Given the description of an element on the screen output the (x, y) to click on. 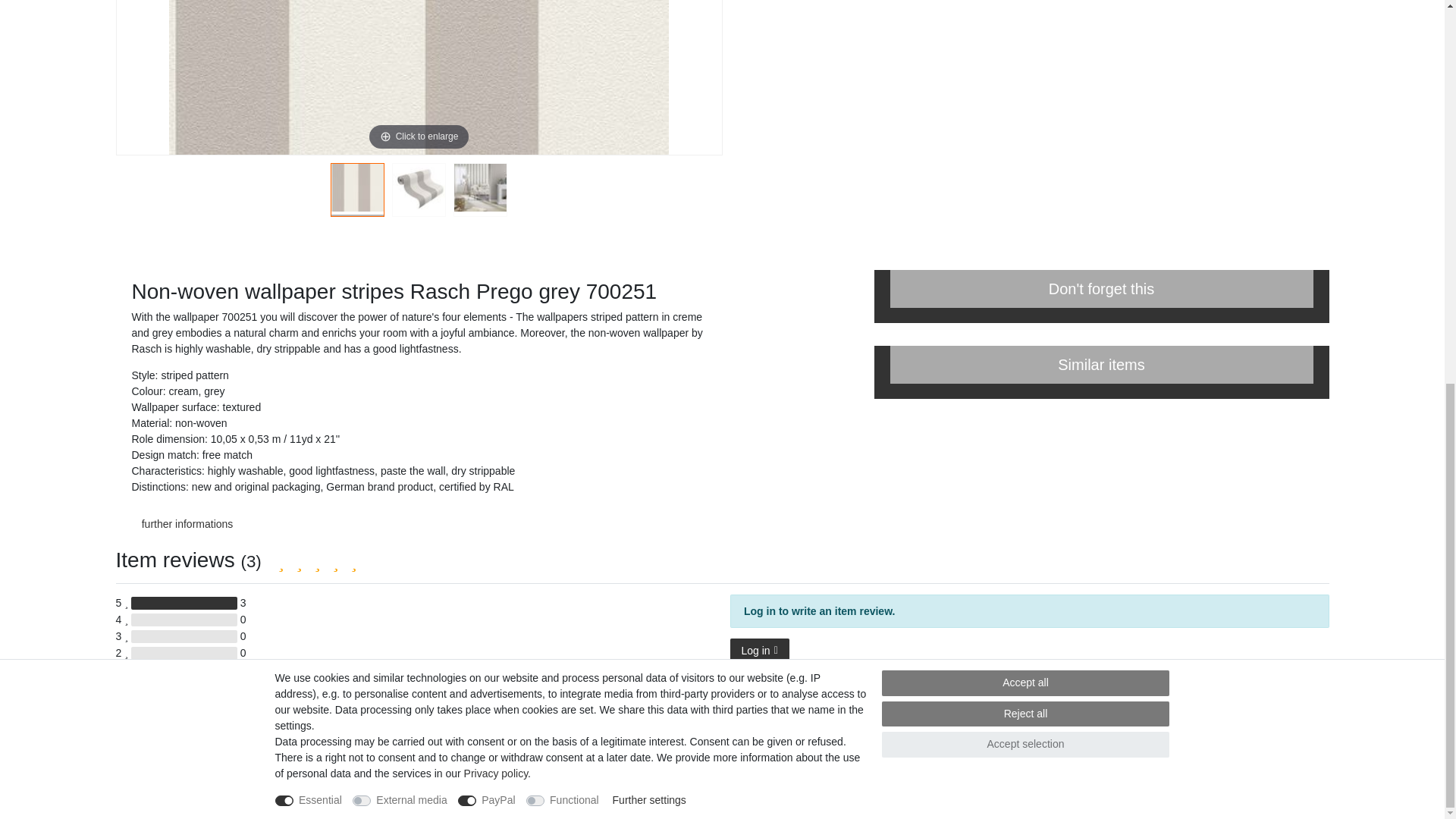
 1 (357, 193)
Click to enlarge (419, 77)
